Given the description of an element on the screen output the (x, y) to click on. 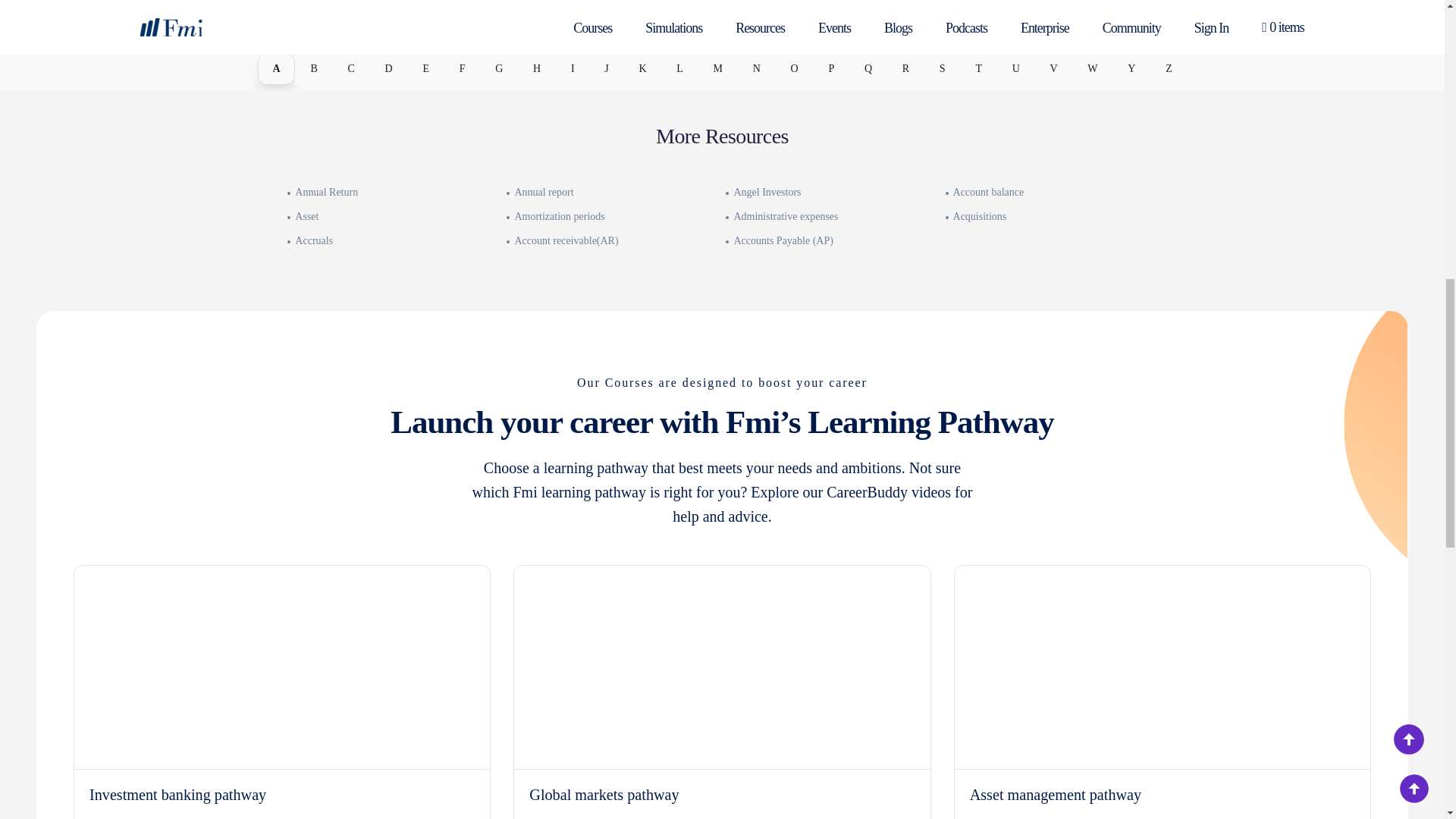
L (679, 69)
I (572, 69)
S (942, 69)
C (350, 69)
V (1052, 69)
Y (1131, 69)
J (606, 69)
A (276, 69)
Q (867, 69)
M (718, 69)
